Given the description of an element on the screen output the (x, y) to click on. 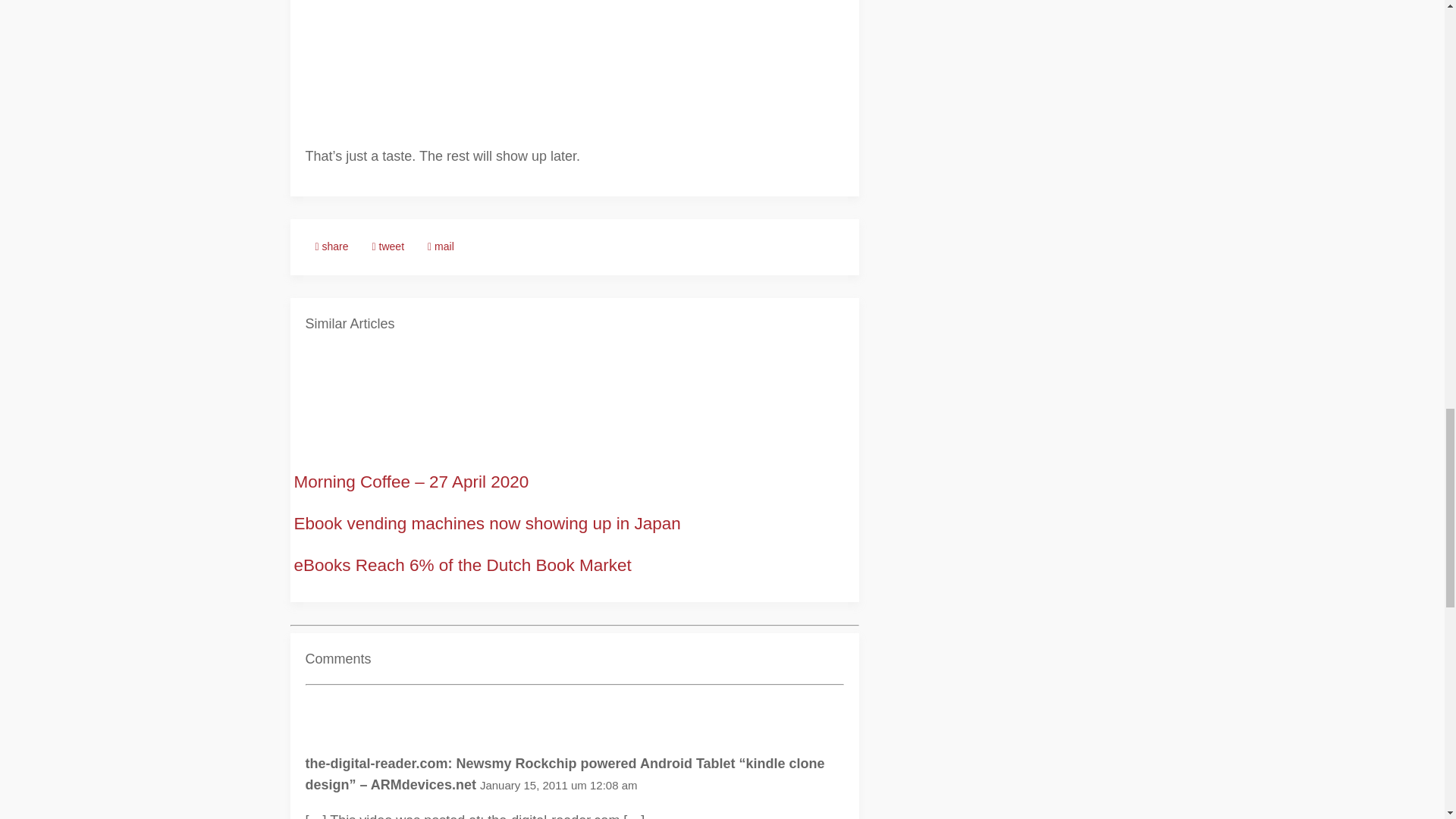
rockchip (347, 74)
mail (440, 247)
Ebook vending machines now showing up in Japan (487, 523)
tweet (387, 247)
share (331, 247)
Ebook vending machines now showing up in Japan (487, 523)
rockchip (347, 9)
